Given the description of an element on the screen output the (x, y) to click on. 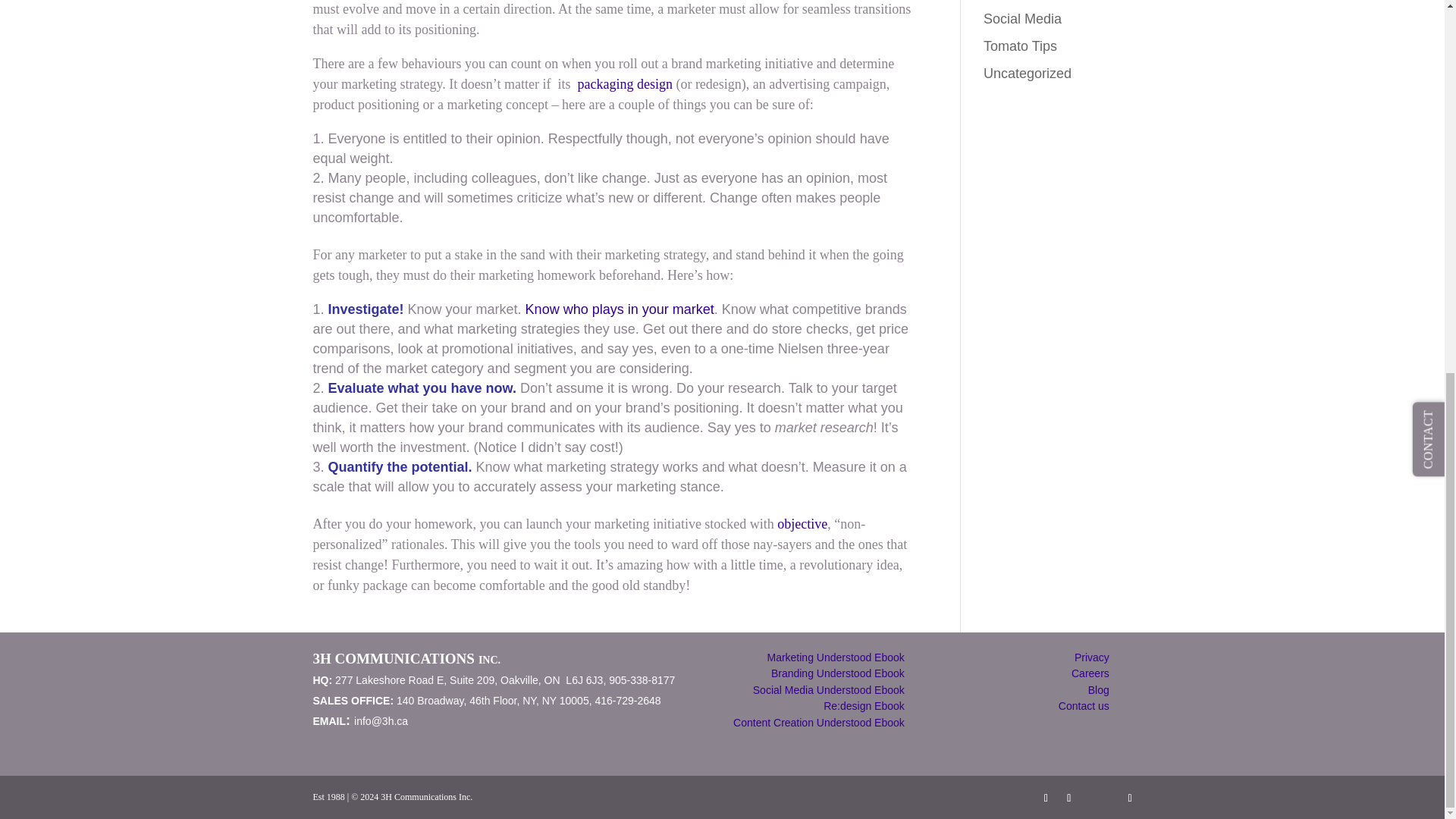
packaging design (623, 83)
Ready, Aim, Market! How Targeted is Your Target Audience? (619, 309)
objective (802, 523)
Know who plays in your market (619, 309)
